Given the description of an element on the screen output the (x, y) to click on. 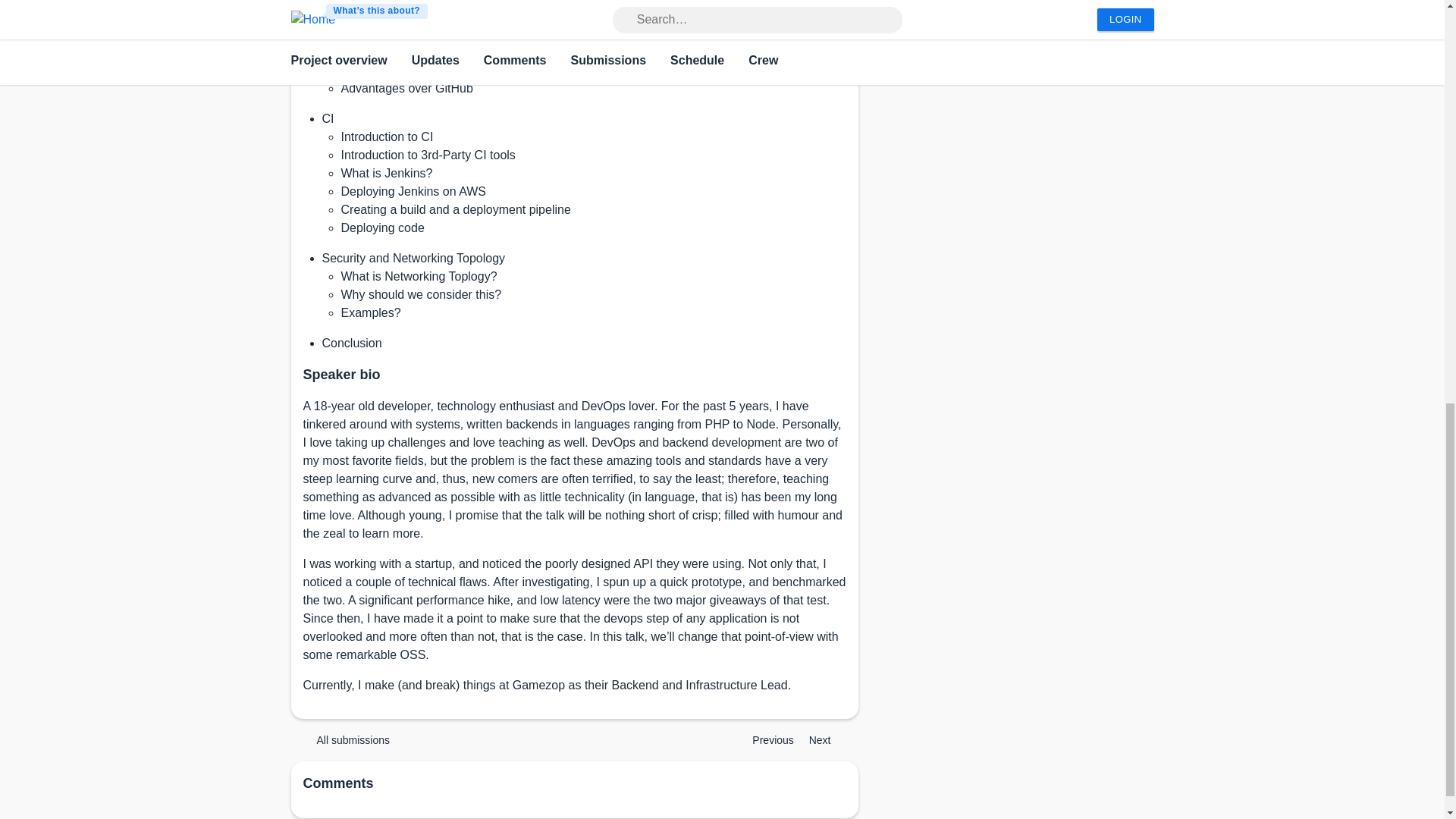
All submissions (346, 740)
Speaker bio (341, 374)
